Given the description of an element on the screen output the (x, y) to click on. 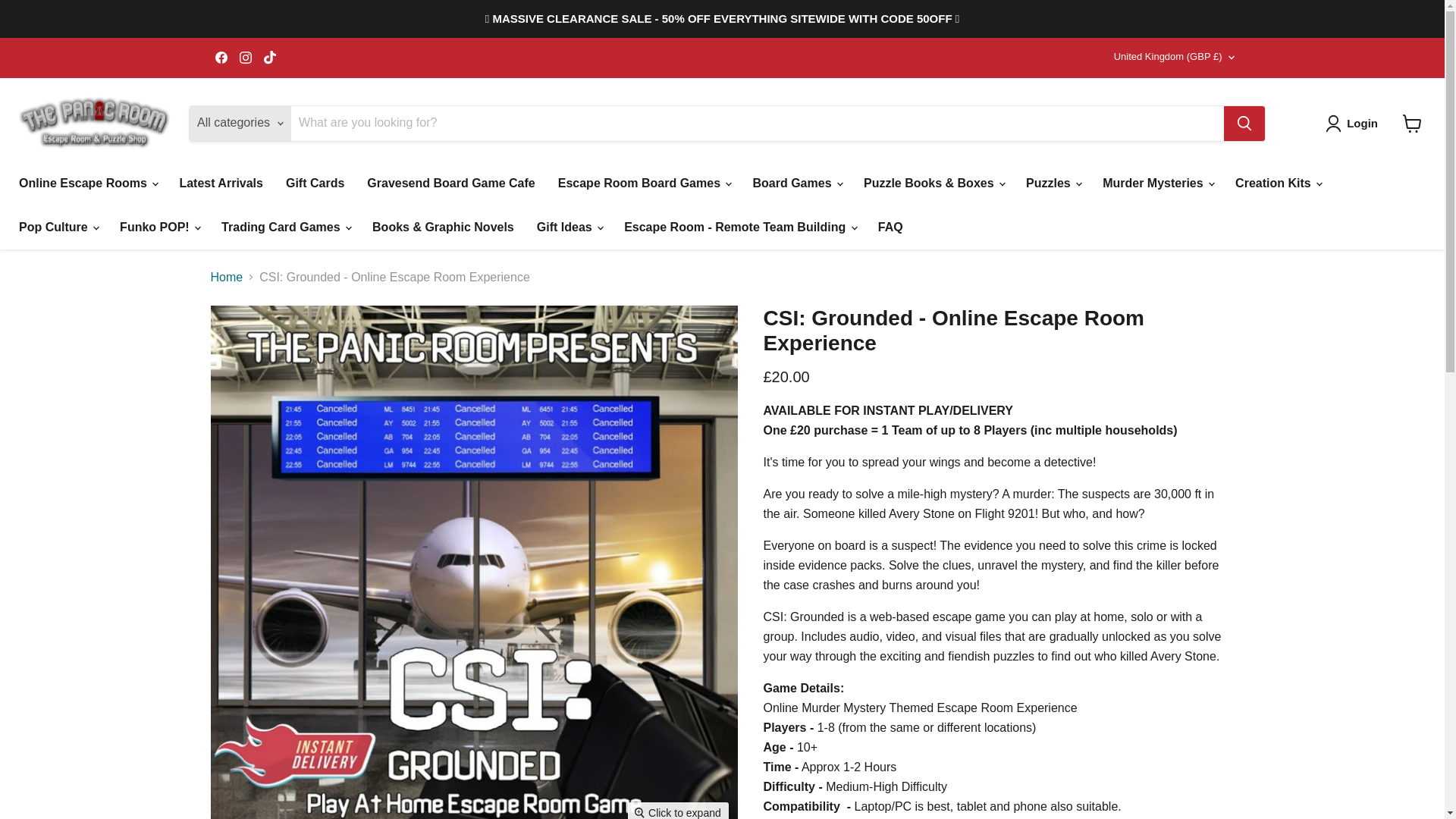
Find us on TikTok (270, 56)
Find us on Facebook (221, 56)
TikTok (270, 56)
Facebook (221, 56)
Instagram (245, 56)
Find us on Instagram (245, 56)
